Given the description of an element on the screen output the (x, y) to click on. 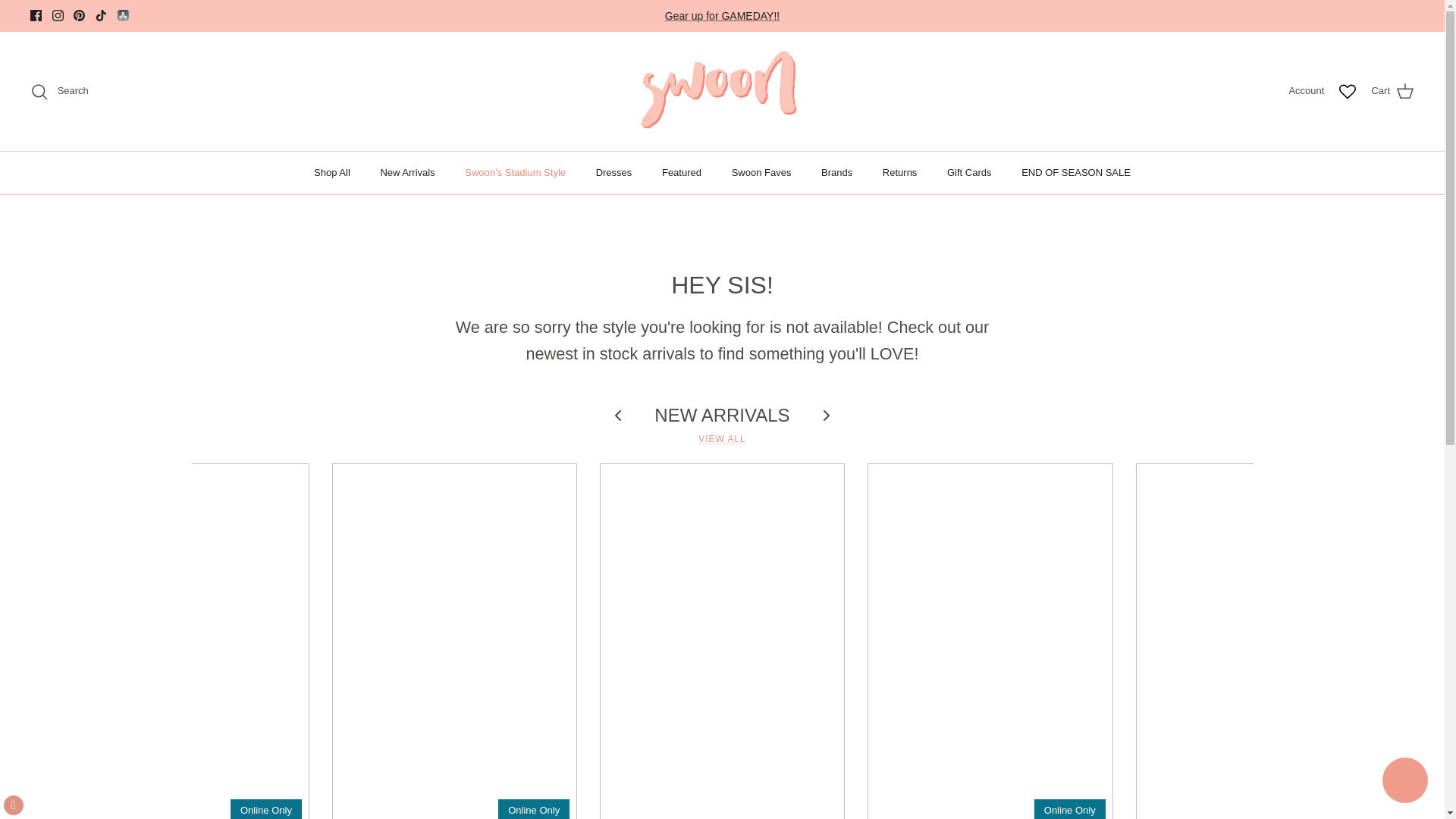
Shopify online store chat (1404, 781)
Pinterest (79, 15)
Swoon's Stadium Style (721, 15)
Pinterest (79, 15)
Gear up for GAMEDAY!! (721, 15)
Search (59, 91)
Shop All (331, 172)
Instagram (58, 15)
Facebook (36, 15)
Instagram (58, 15)
